Given the description of an element on the screen output the (x, y) to click on. 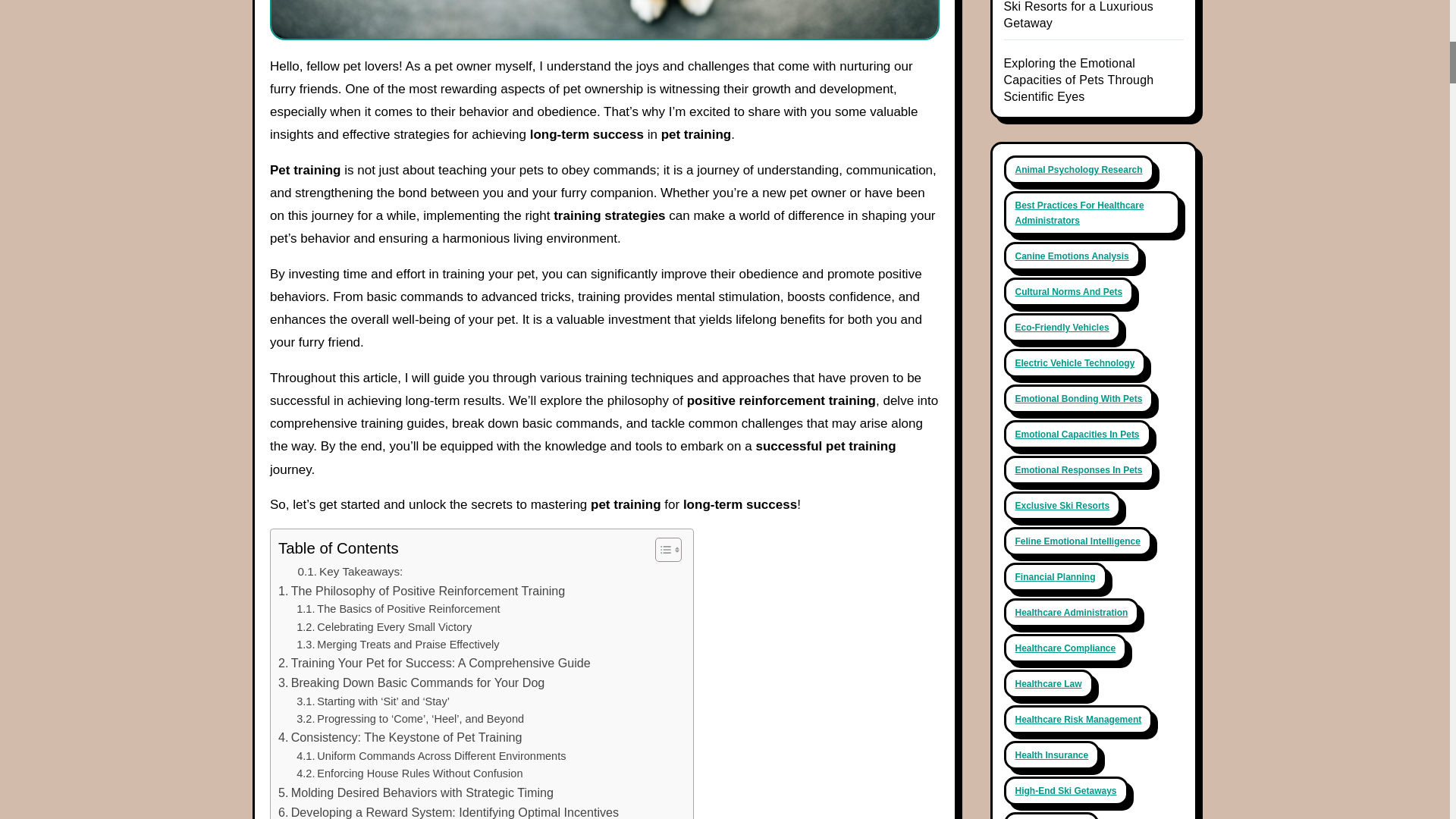
Merging Treats and Praise Effectively (398, 644)
Enforcing House Rules Without Confusion (409, 773)
Molding Desired Behaviors with Strategic Timing (415, 792)
Training Your Pet for Success: A Comprehensive Guide (434, 663)
Merging Treats and Praise Effectively (398, 644)
Training Your Pet for Success: A Comprehensive Guide (434, 663)
The Basics of Positive Reinforcement (398, 609)
The Philosophy of Positive Reinforcement Training (421, 591)
Breaking Down Basic Commands for Your Dog (411, 682)
The Basics of Positive Reinforcement (398, 609)
